Given the description of an element on the screen output the (x, y) to click on. 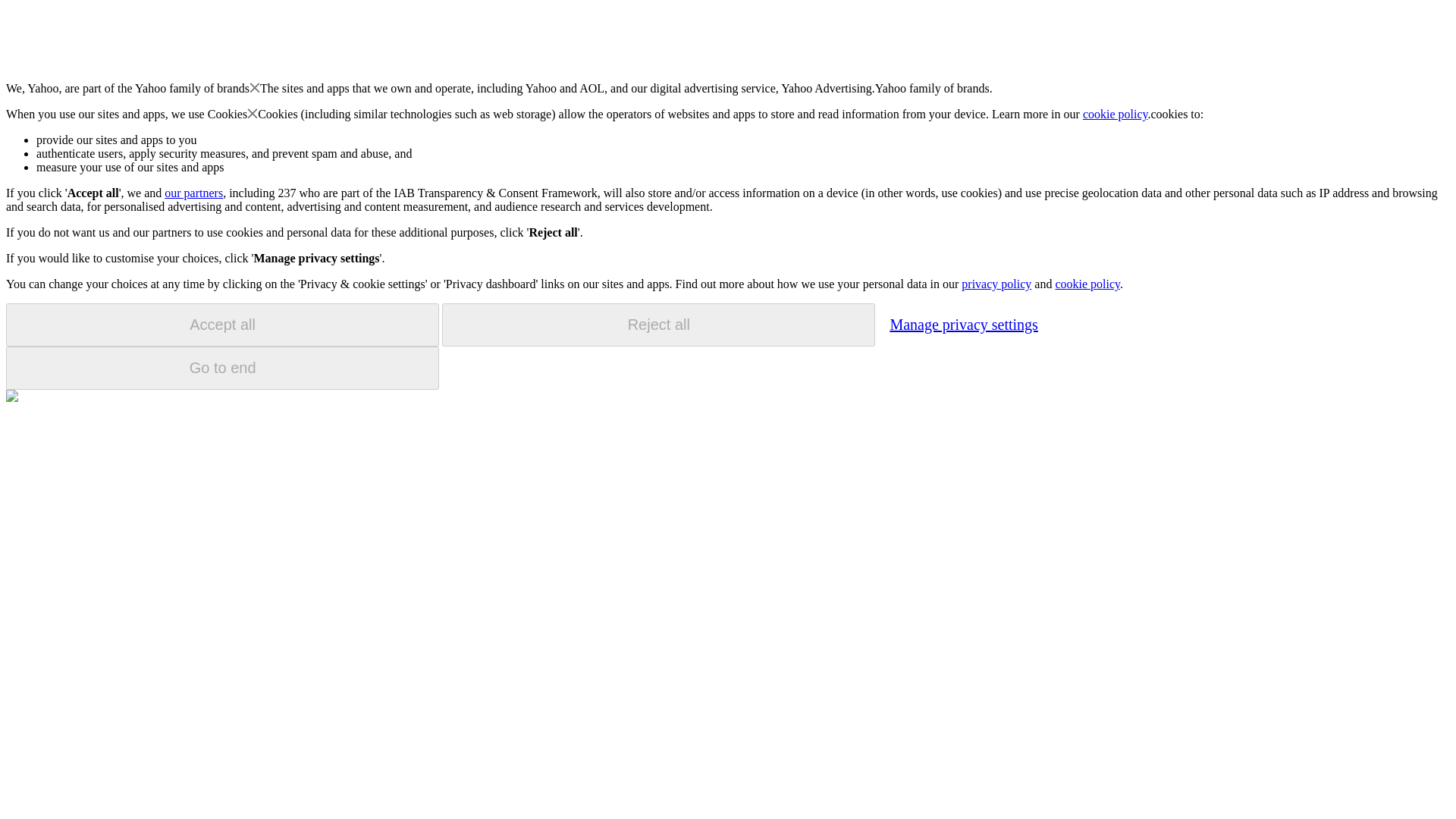
our partners (193, 192)
privacy policy (995, 283)
cookie policy (1115, 113)
cookie policy (1086, 283)
Accept all (222, 324)
Go to end (222, 367)
Reject all (658, 324)
Manage privacy settings (963, 323)
